Given the description of an element on the screen output the (x, y) to click on. 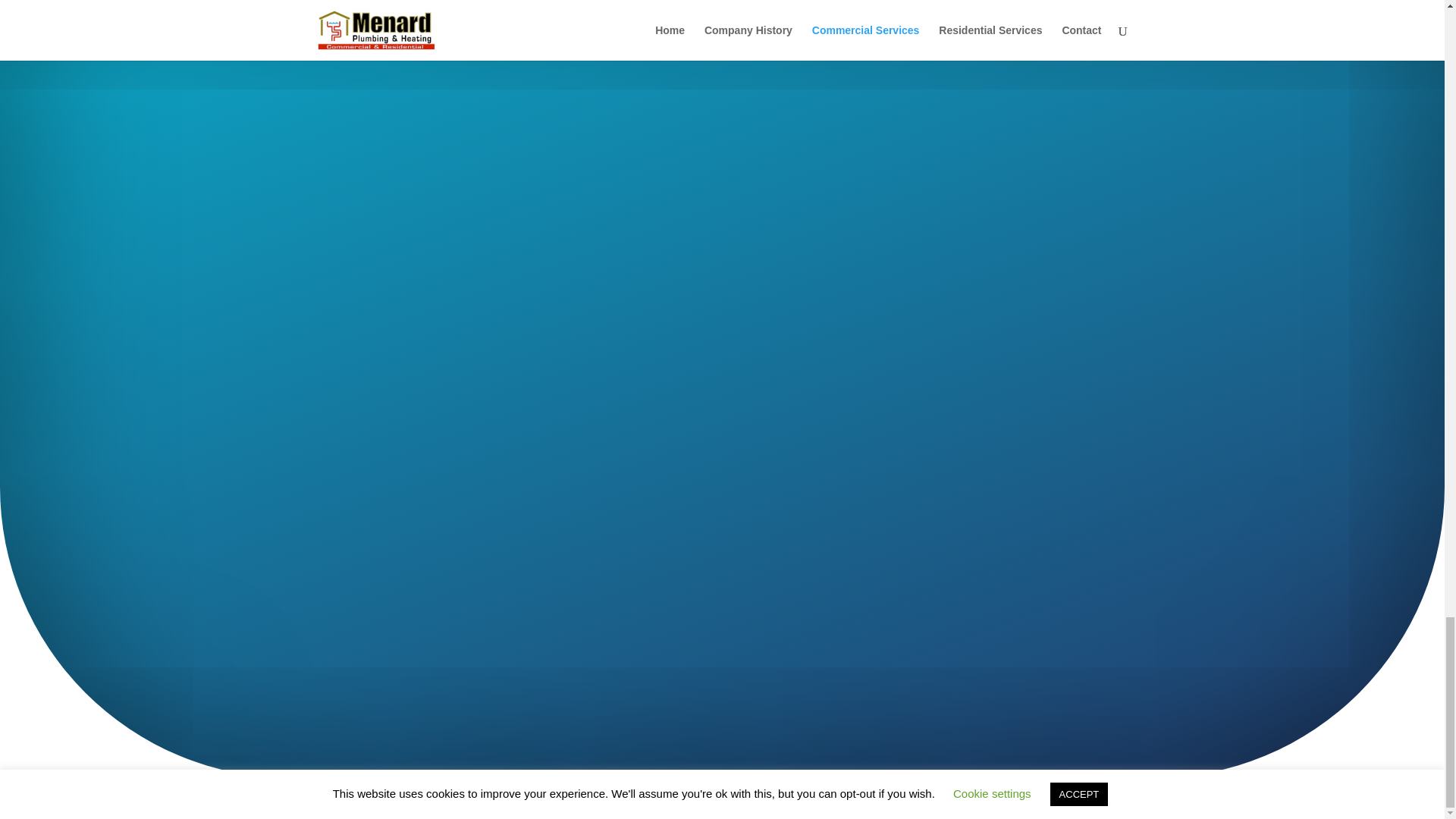
Webmax Marketing (620, 797)
